Given the description of an element on the screen output the (x, y) to click on. 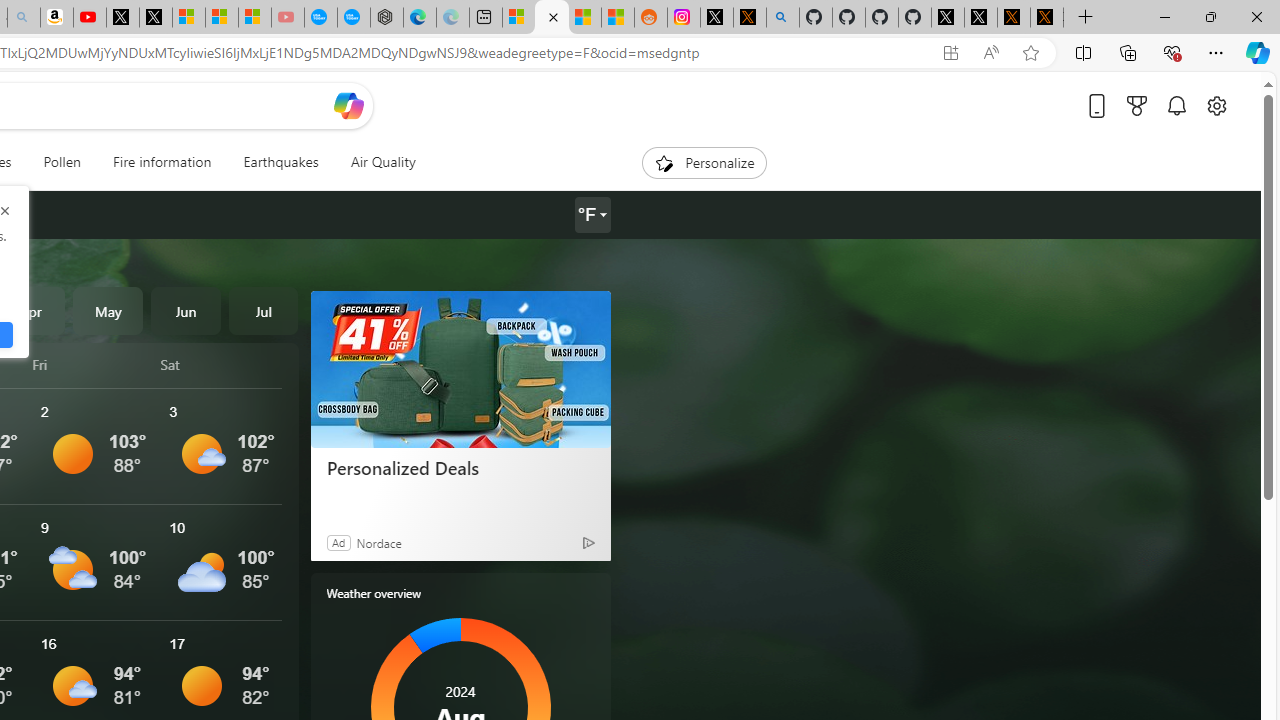
Jun (186, 310)
App available. Install Microsoft Start Weather (950, 53)
Fri (93, 363)
Nordace - Nordace has arrived Hong Kong (387, 17)
Log in to X / X (717, 17)
Shanghai, China Weather trends | Microsoft Weather (617, 17)
Earthquakes (280, 162)
Opinion: Op-Ed and Commentary - USA TODAY (320, 17)
